Given the description of an element on the screen output the (x, y) to click on. 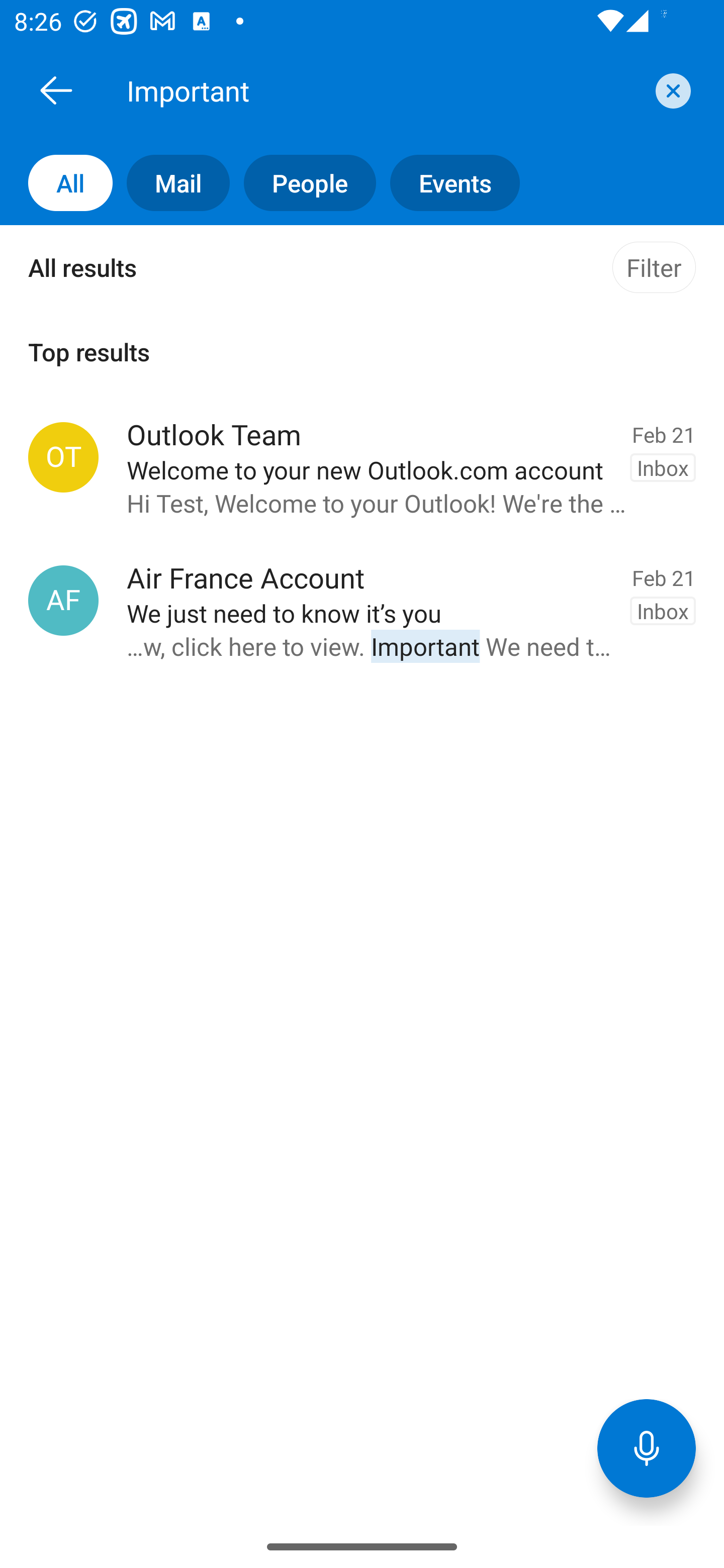
Back (55, 89)
Important (384, 89)
clear search (670, 90)
Mail (170, 183)
People (302, 183)
Events (447, 183)
Filter (653, 267)
Voice Assistant (646, 1447)
